Given the description of an element on the screen output the (x, y) to click on. 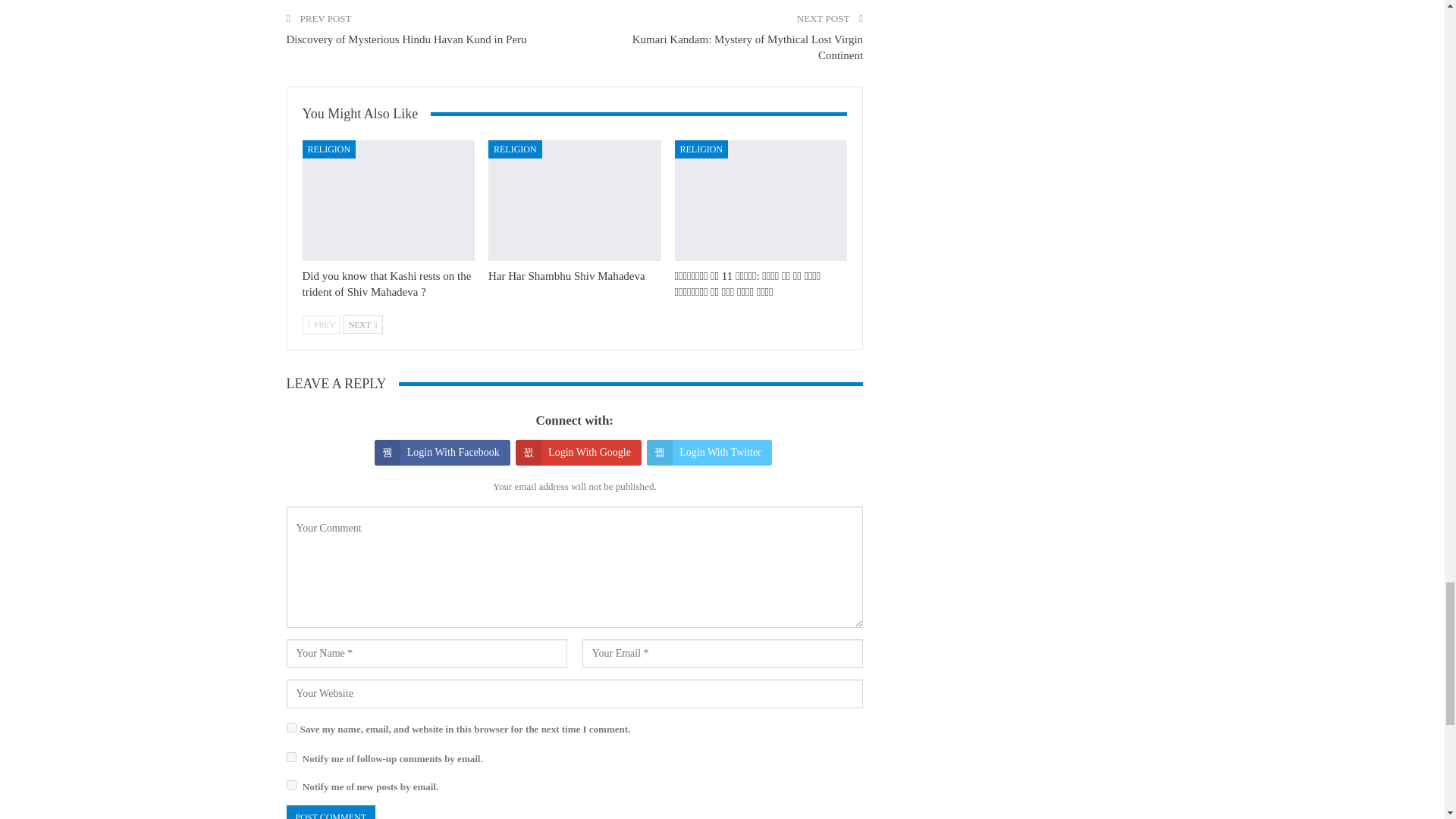
subscribe (291, 785)
subscribe (291, 757)
Har Har Shambhu Shiv Mahadeva (566, 275)
Post Comment (330, 812)
yes (291, 727)
Har Har Shambhu Shiv Mahadeva (574, 200)
